Given the description of an element on the screen output the (x, y) to click on. 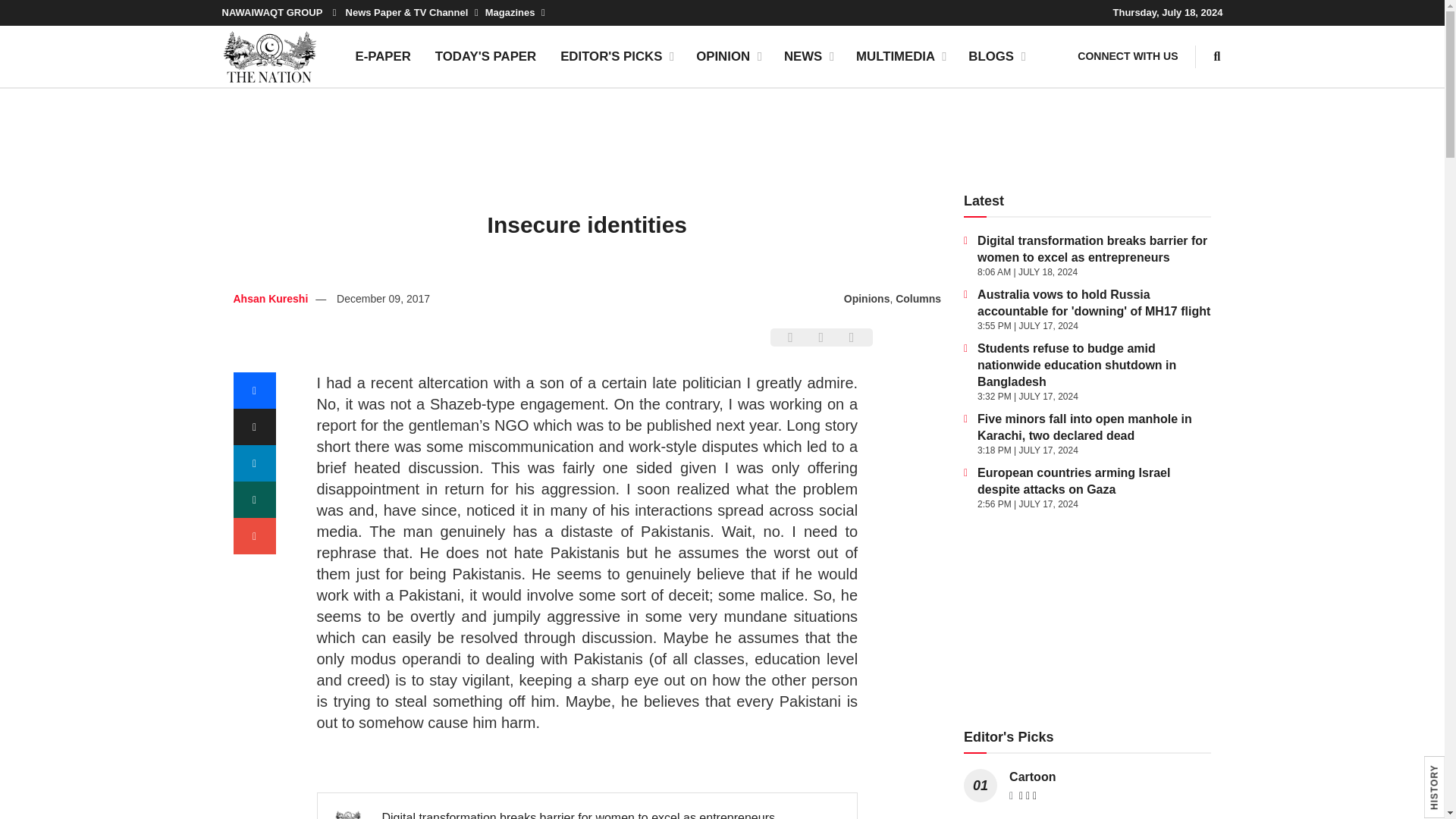
TODAY'S PAPER (485, 55)
BLOGS (995, 55)
EDITOR'S PICKS (616, 55)
MULTIMEDIA (900, 55)
OPINION (727, 55)
NEWS (807, 55)
E-PAPER (382, 55)
Magazines (513, 12)
